Given the description of an element on the screen output the (x, y) to click on. 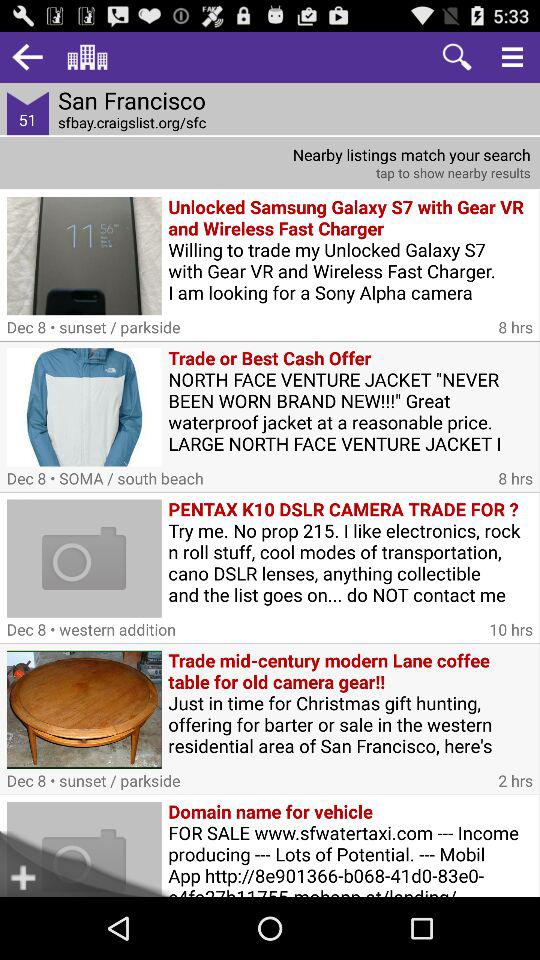
search button (456, 56)
